Given the description of an element on the screen output the (x, y) to click on. 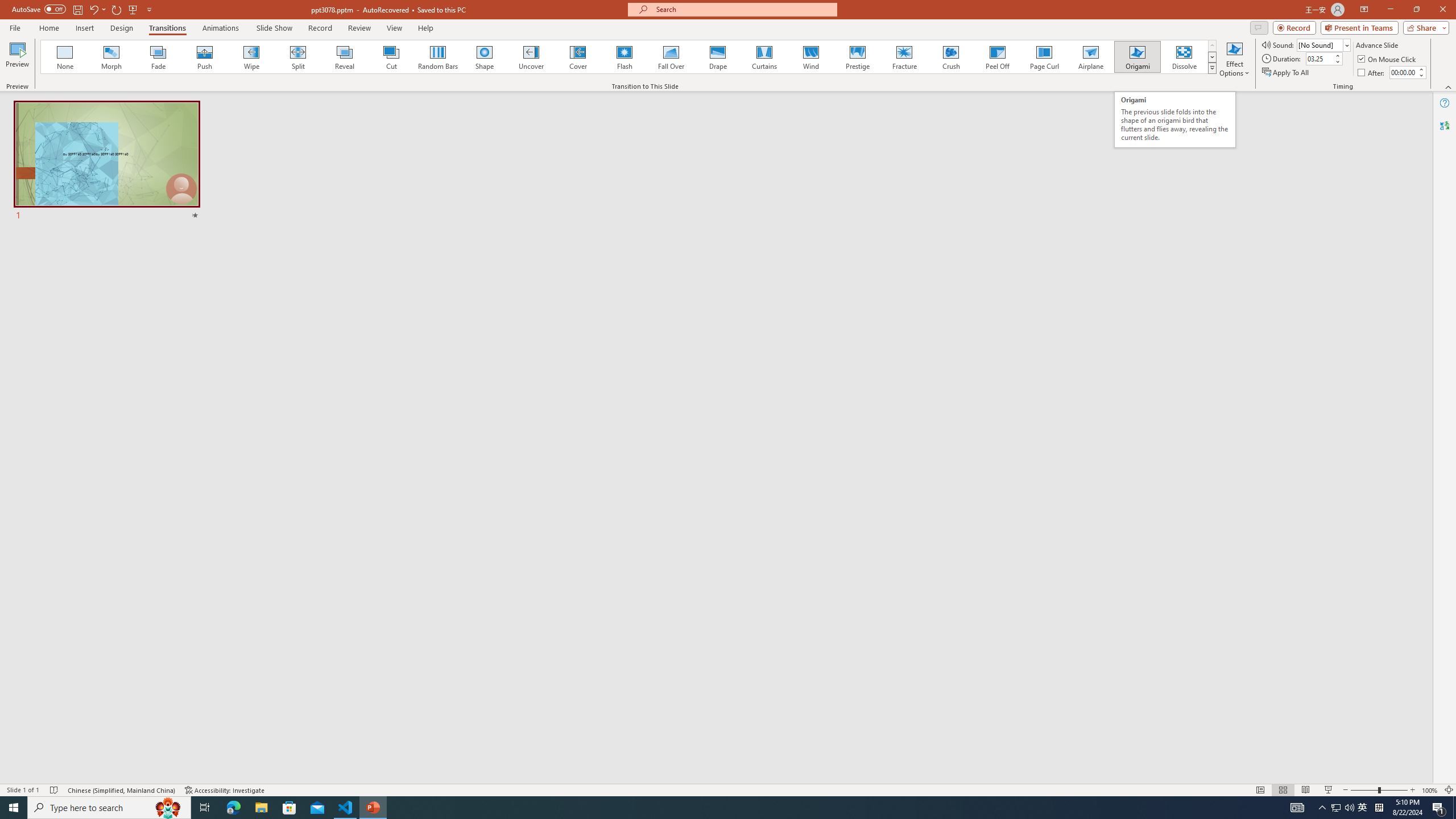
Dissolve (1183, 56)
AutomationID: AnimationTransitionGallery (628, 56)
After (1403, 72)
Less (1420, 75)
